Given the description of an element on the screen output the (x, y) to click on. 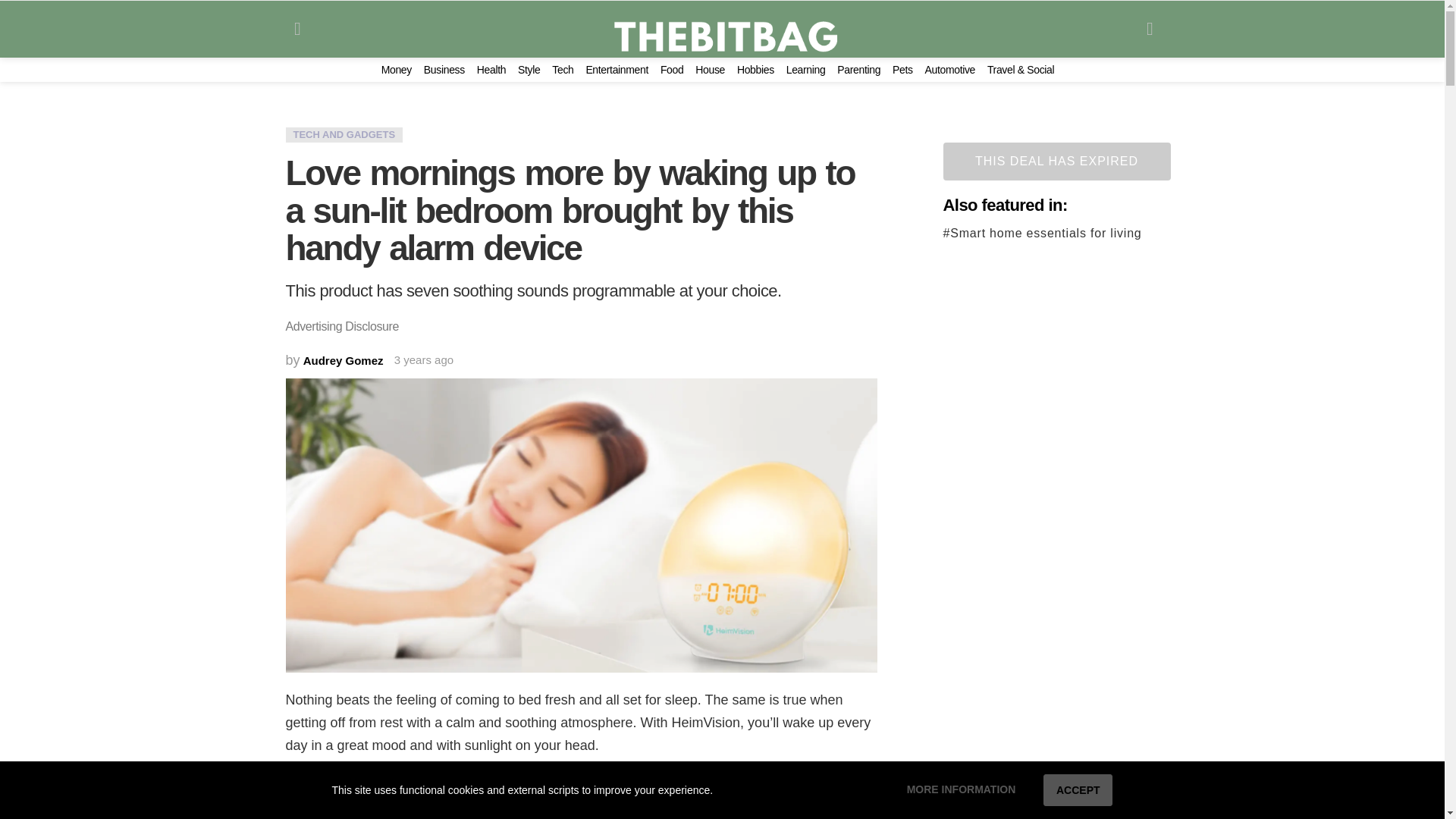
Parenting (858, 69)
Entertainment (616, 69)
Health (491, 69)
Menu (296, 28)
ACCEPT (1077, 789)
House (710, 69)
Money (396, 69)
Food (672, 69)
Learning (805, 69)
Posts by Audrey Gomez (343, 359)
